Given the description of an element on the screen output the (x, y) to click on. 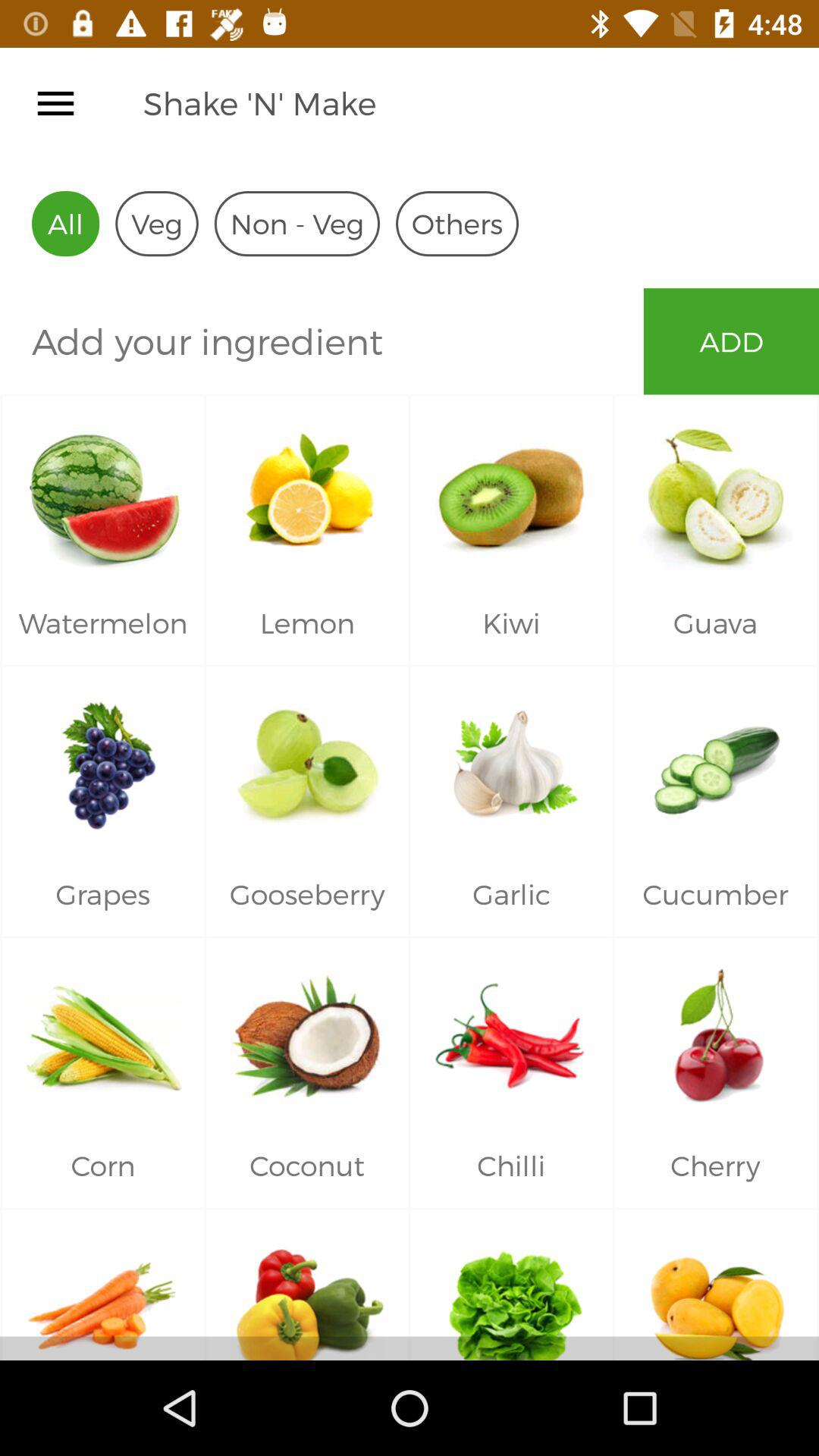
choose the icon next to the veg item (296, 223)
